Given the description of an element on the screen output the (x, y) to click on. 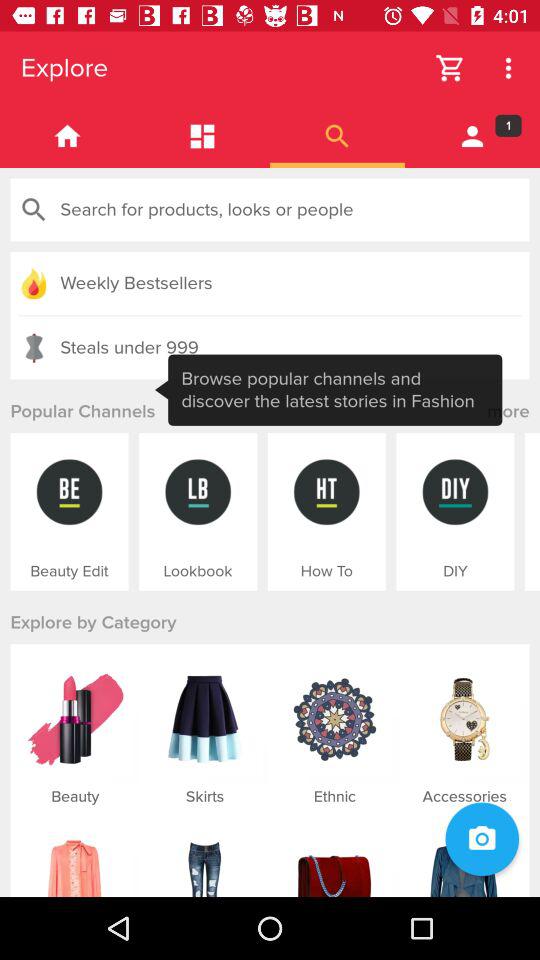
home button (67, 136)
